Given the description of an element on the screen output the (x, y) to click on. 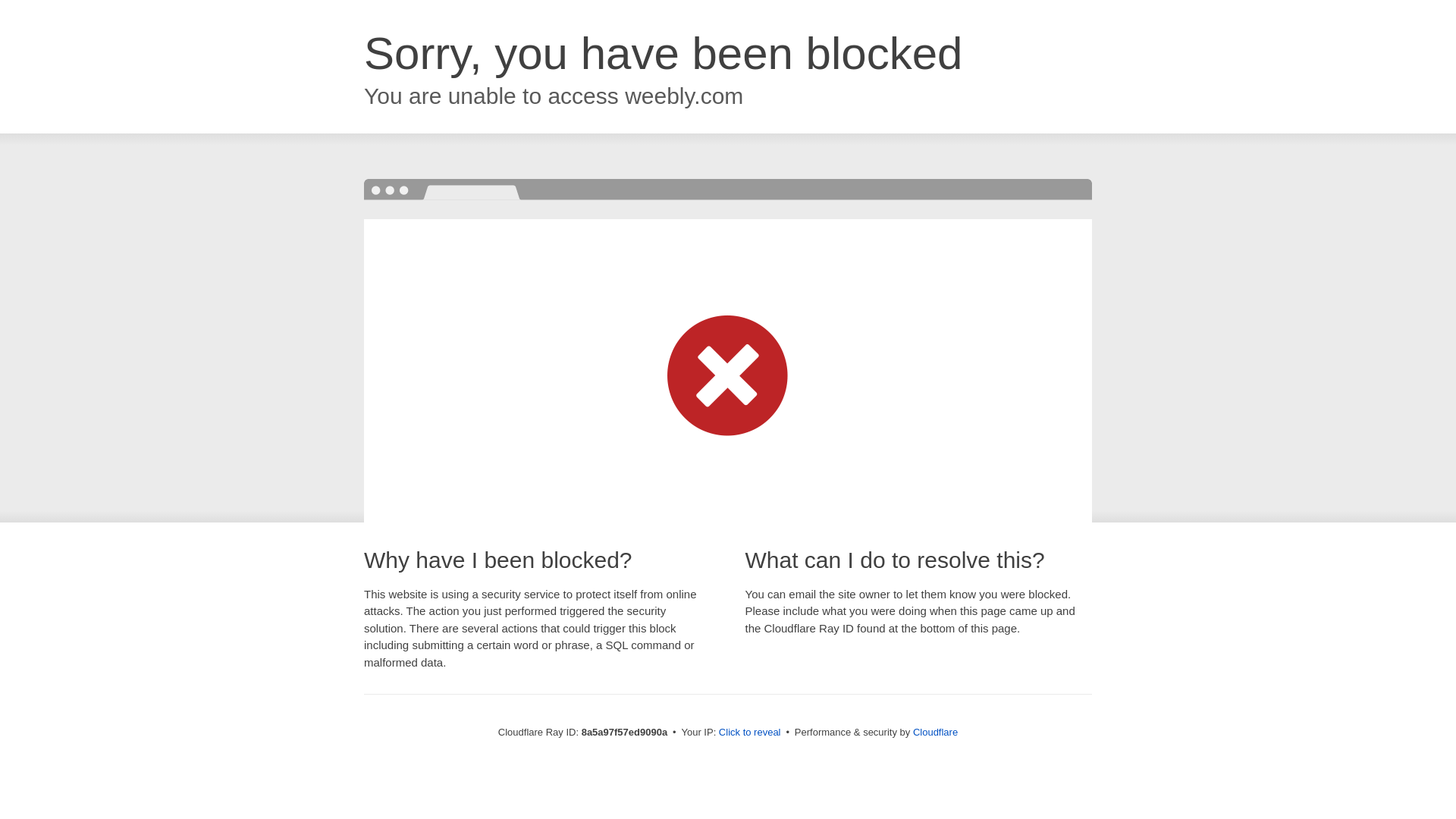
Click to reveal (749, 732)
Cloudflare (935, 731)
